Given the description of an element on the screen output the (x, y) to click on. 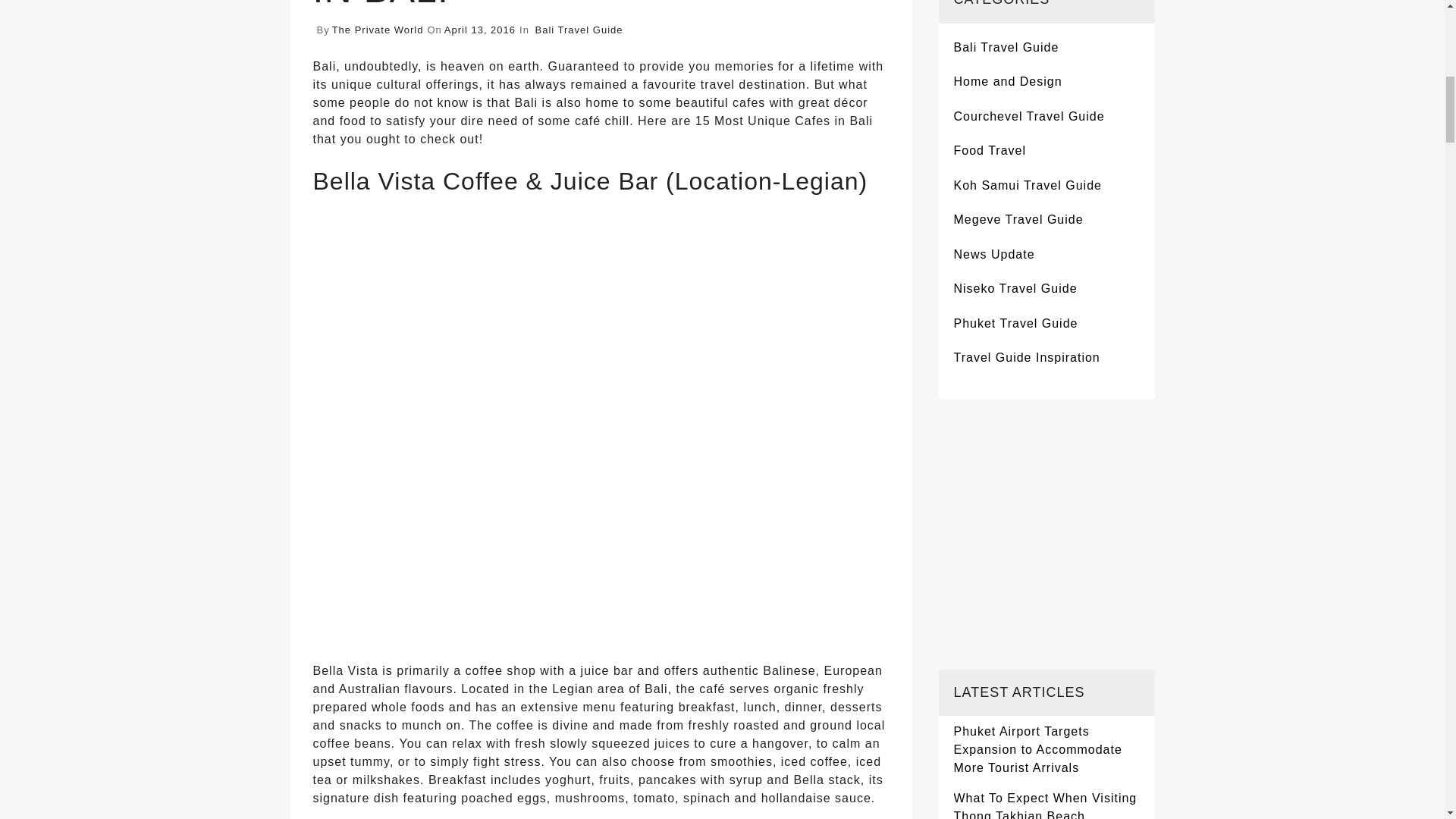
Koh Samui Travel Guide (1027, 185)
Bali Travel Guide (1006, 47)
Food Travel (989, 150)
Home and Design (1007, 81)
Courchevel Travel Guide (1029, 116)
Bali Travel Guide (579, 30)
